Given the description of an element on the screen output the (x, y) to click on. 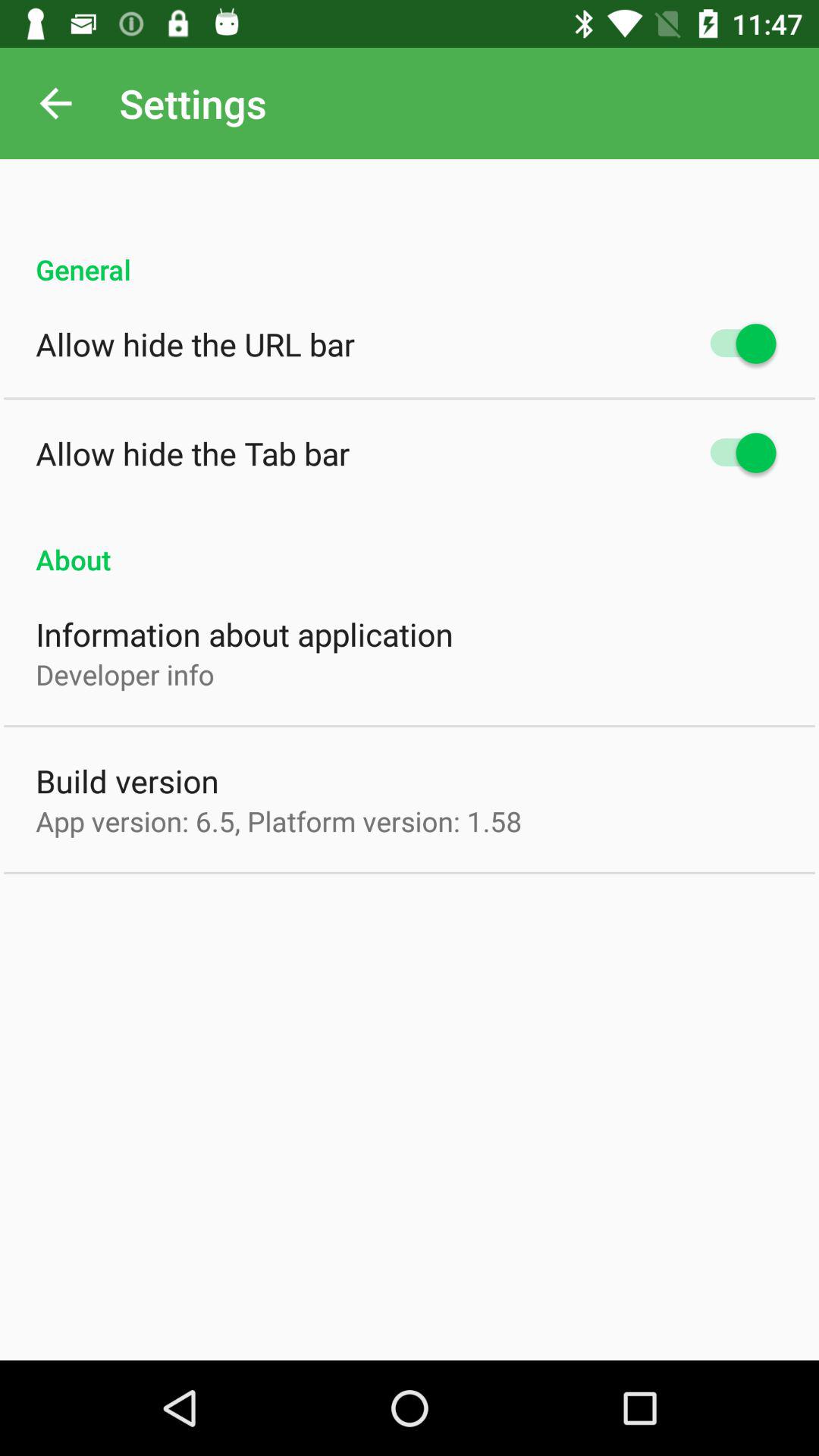
choose icon below the information about application (124, 674)
